Given the description of an element on the screen output the (x, y) to click on. 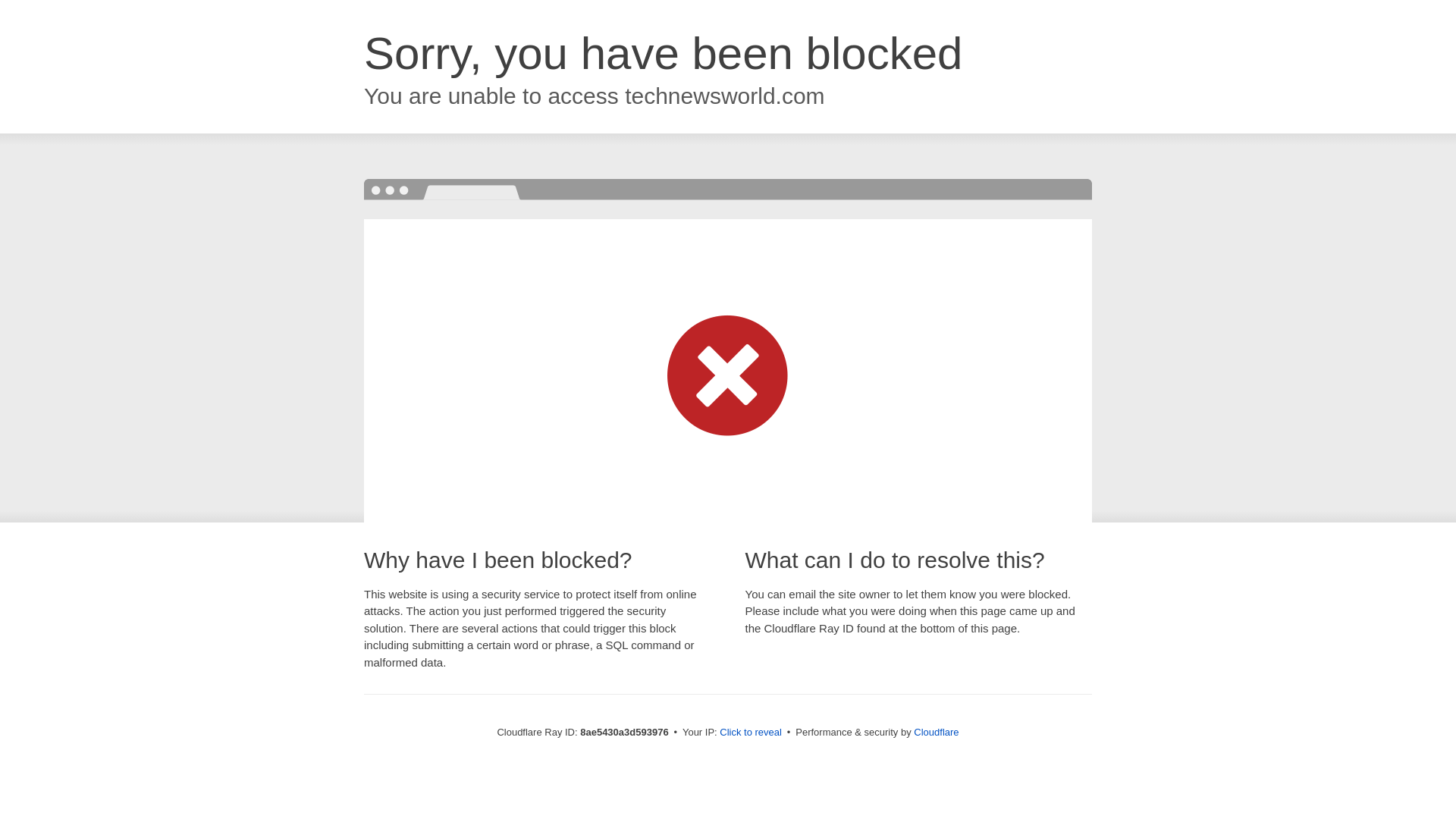
Click to reveal (750, 732)
Cloudflare (936, 731)
